Given the description of an element on the screen output the (x, y) to click on. 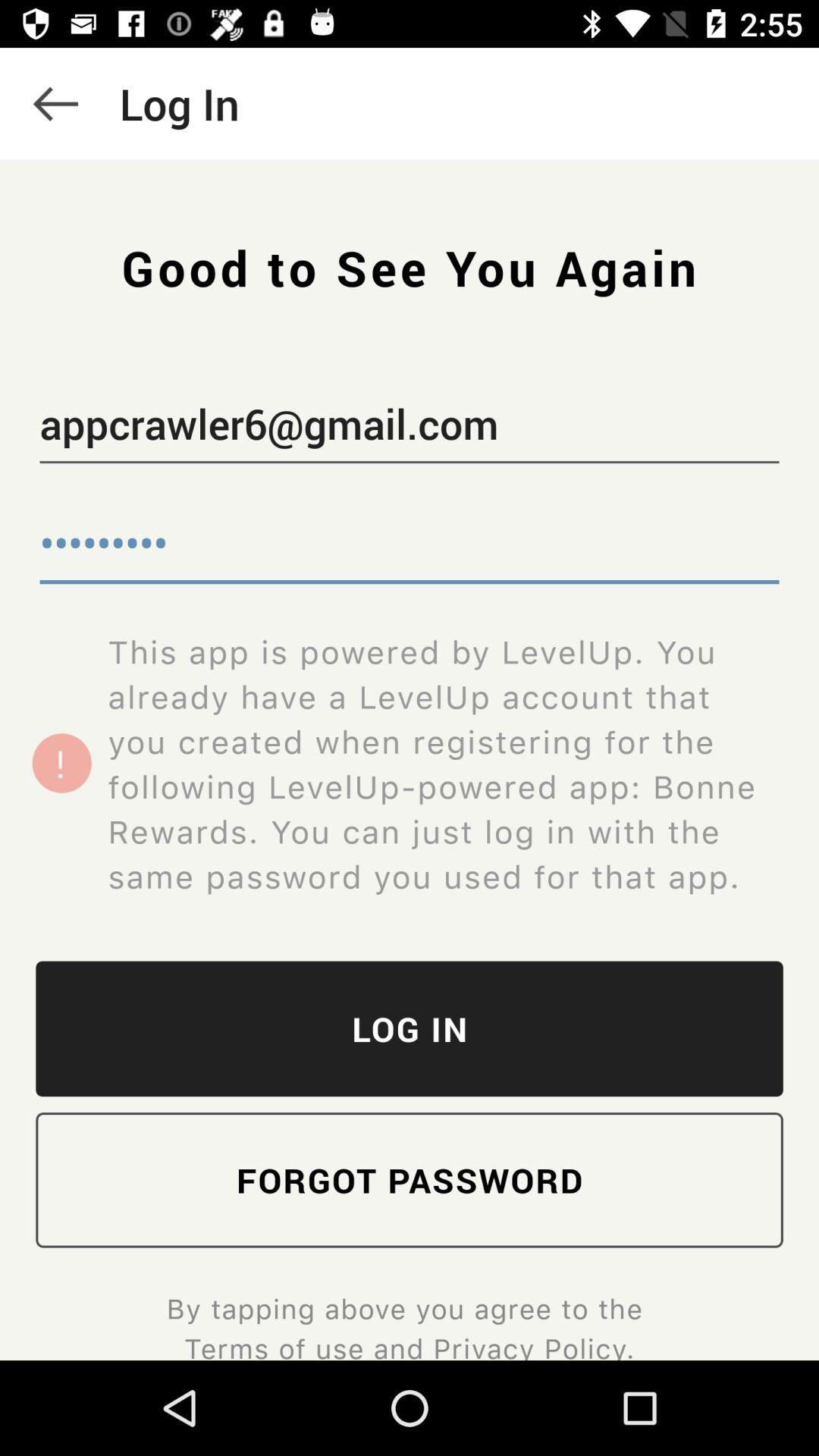
choose item next to the log in icon (55, 103)
